Given the description of an element on the screen output the (x, y) to click on. 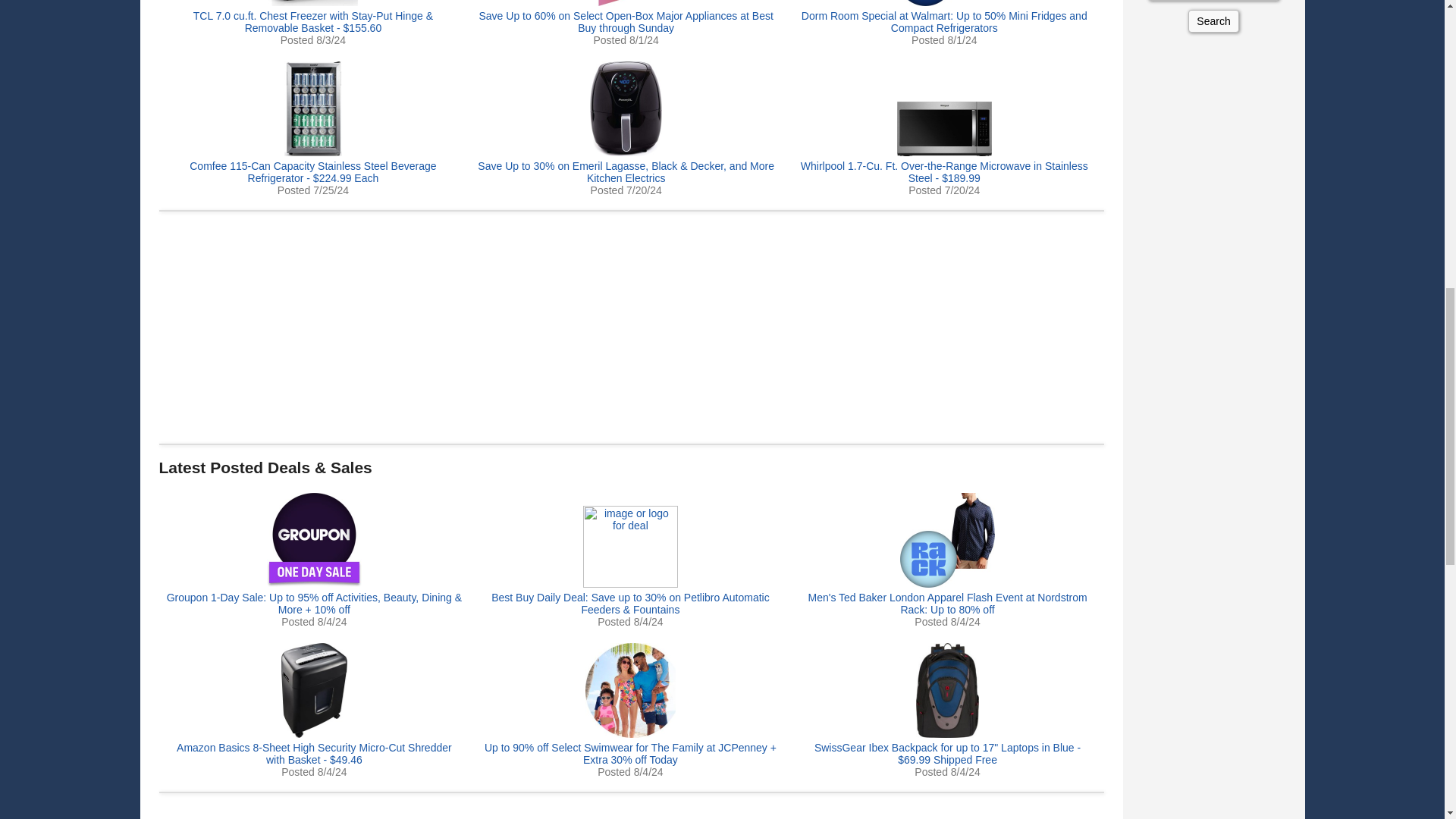
Advertisement (631, 812)
